Given the description of an element on the screen output the (x, y) to click on. 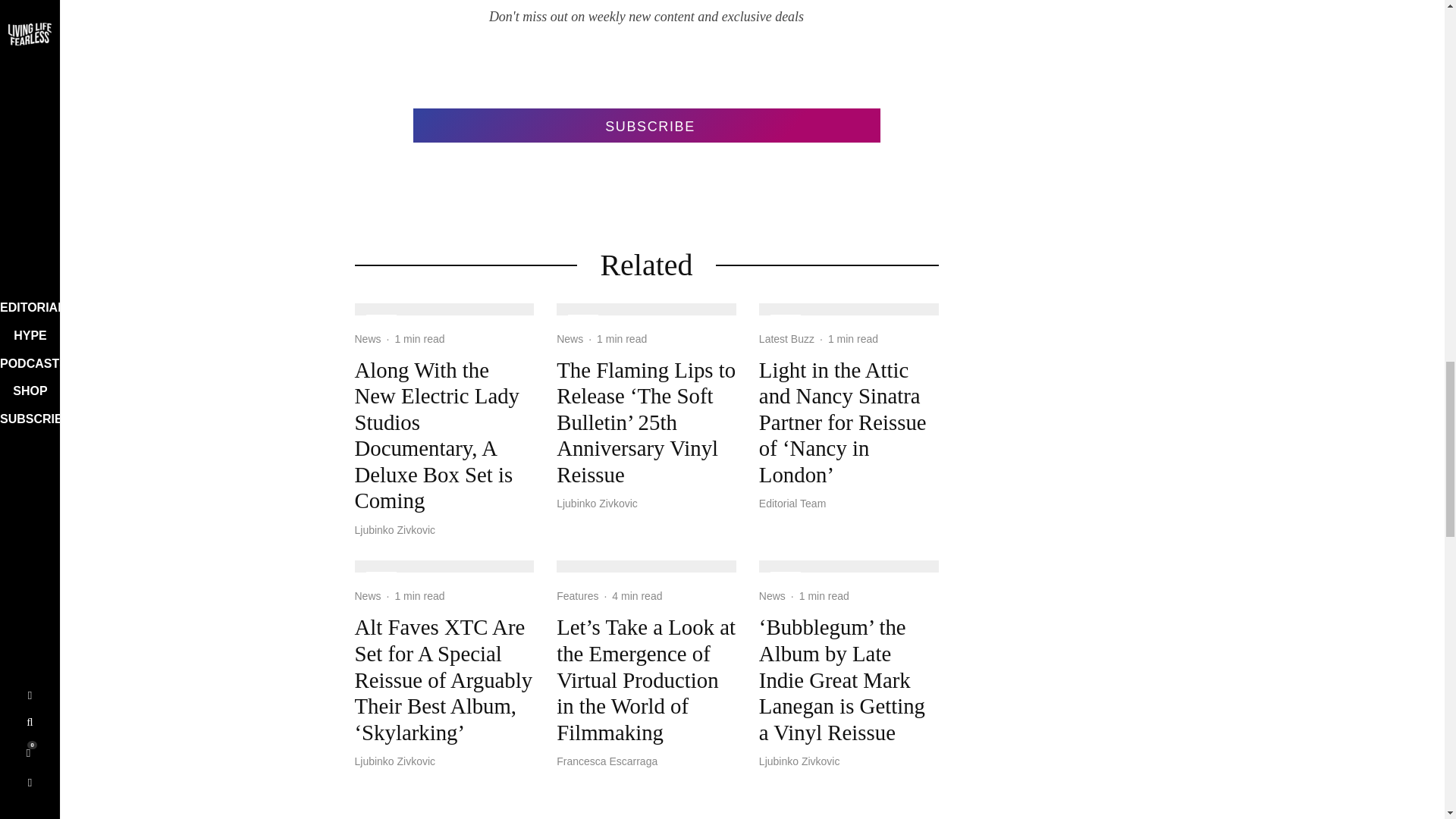
Subscribe (645, 125)
